Given the description of an element on the screen output the (x, y) to click on. 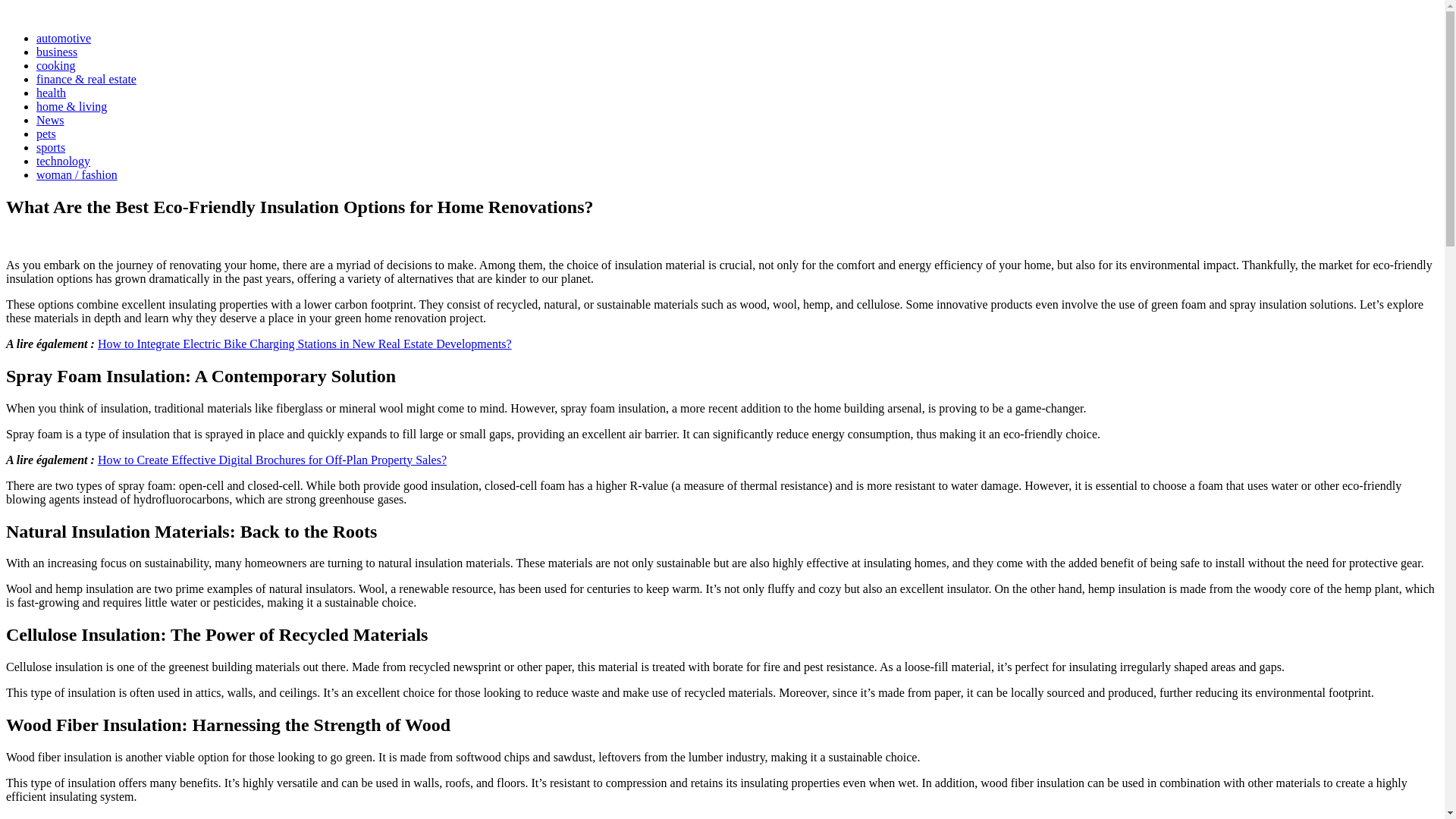
News (50, 119)
sports (50, 146)
pets (46, 133)
health (50, 92)
business (56, 51)
cooking (55, 65)
automotive (63, 38)
technology (63, 160)
